Given the description of an element on the screen output the (x, y) to click on. 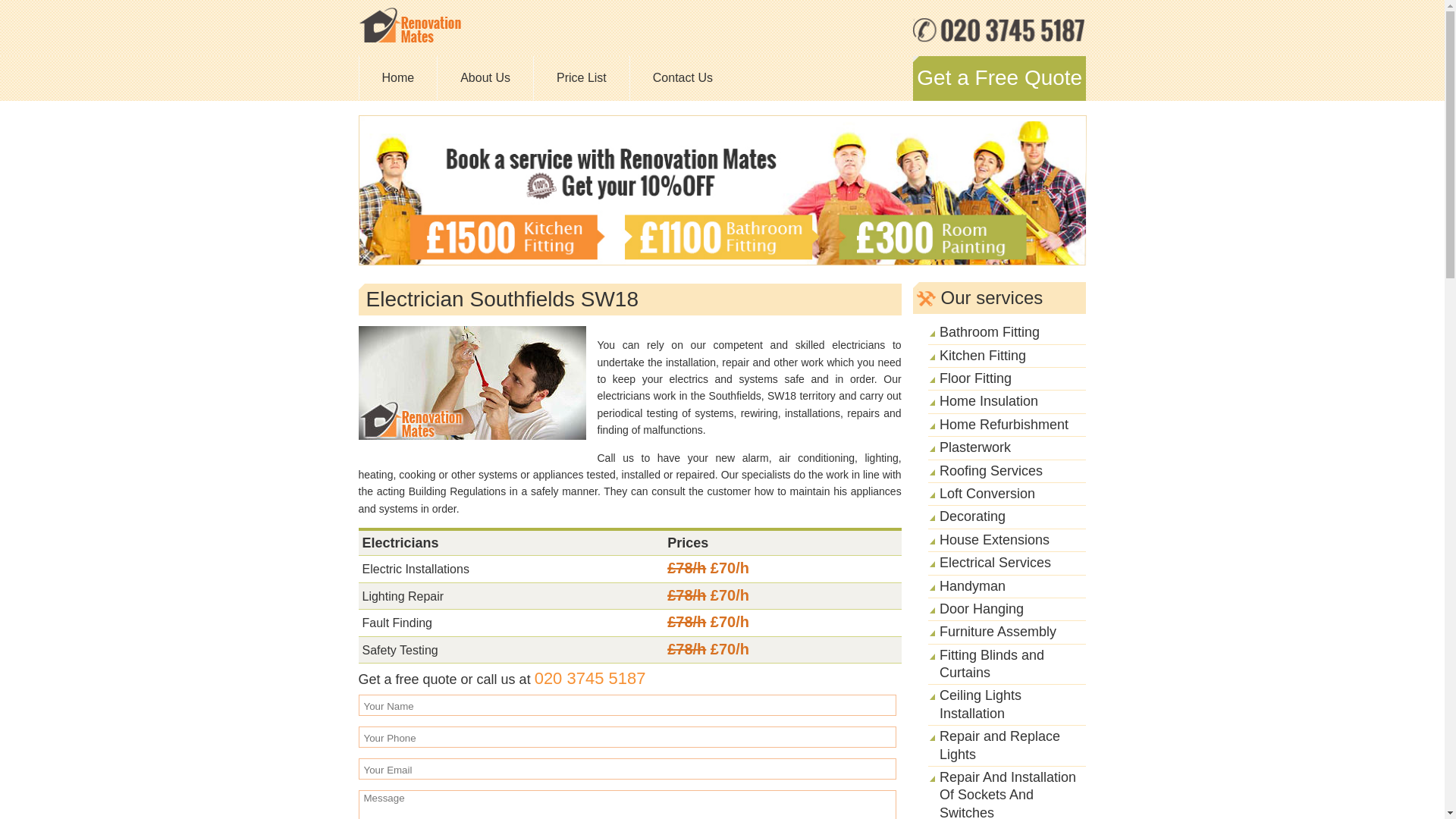
About Us (484, 77)
Roofing Services (990, 470)
Contact Us (681, 77)
Home Insulation (988, 400)
Electrical Services (995, 562)
Handyman (972, 585)
Kitchen Fitting (982, 355)
Floor Fitting (975, 378)
Decorating (972, 516)
Bathroom Fitting (989, 331)
